Given the description of an element on the screen output the (x, y) to click on. 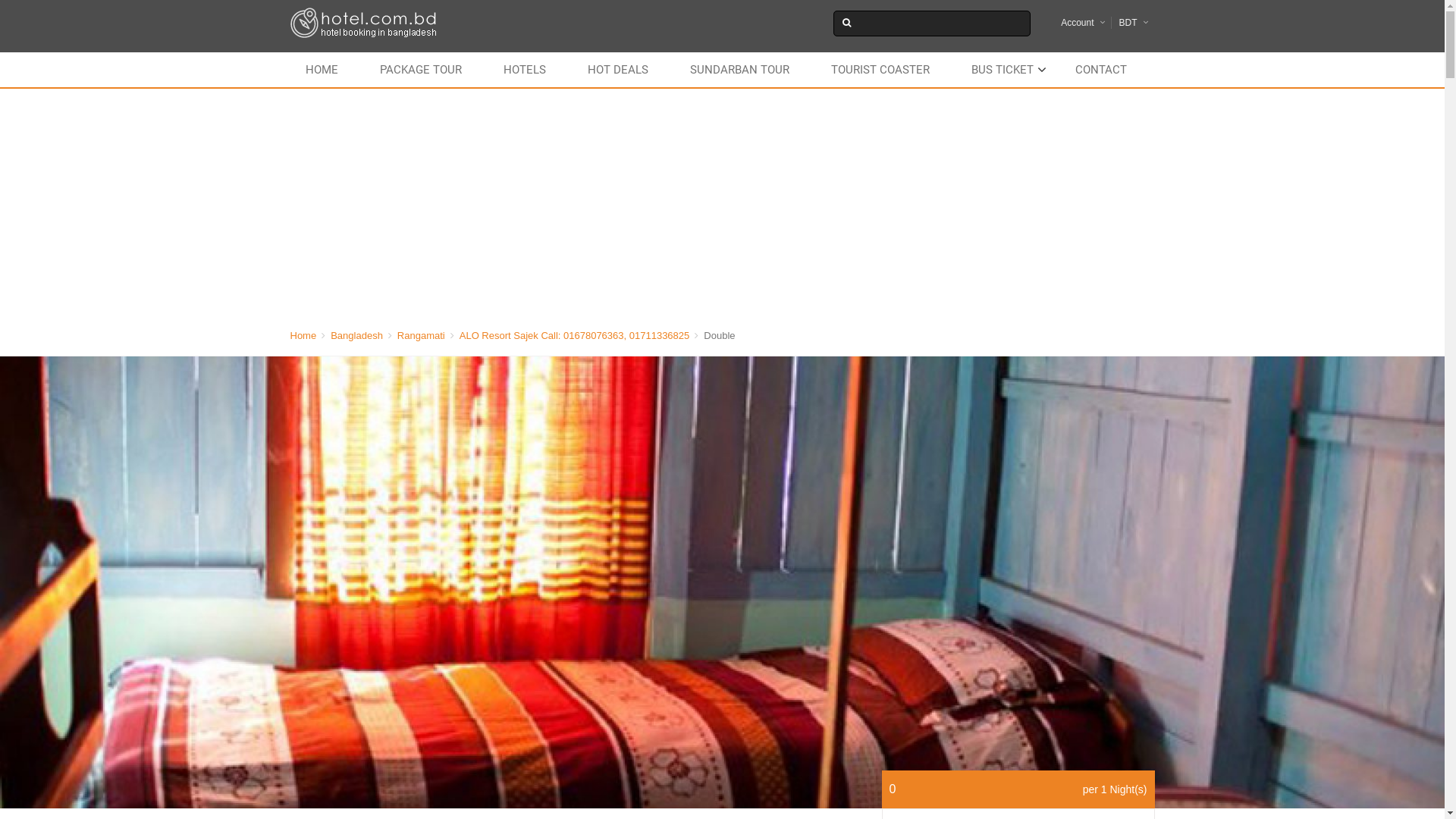
Bangladesh Element type: text (356, 335)
HOME Element type: text (325, 69)
Advertisement Element type: hover (721, 202)
SUNDARBAN TOUR Element type: text (743, 69)
Hotel.Com.Bd Element type: hover (363, 22)
HOTELS Element type: text (529, 69)
BUS TICKET Element type: text (1006, 69)
TOURIST COASTER Element type: text (884, 69)
Account Element type: text (1076, 22)
BDT Element type: text (1128, 22)
Home Element type: text (302, 335)
PACKAGE TOUR Element type: text (424, 69)
CONTACT Element type: text (1105, 69)
Rangamati Element type: text (421, 335)
ALO Resort Sajek Call: 01678076363, 01711336825 Element type: text (574, 335)
HOT DEALS Element type: text (621, 69)
